Given the description of an element on the screen output the (x, y) to click on. 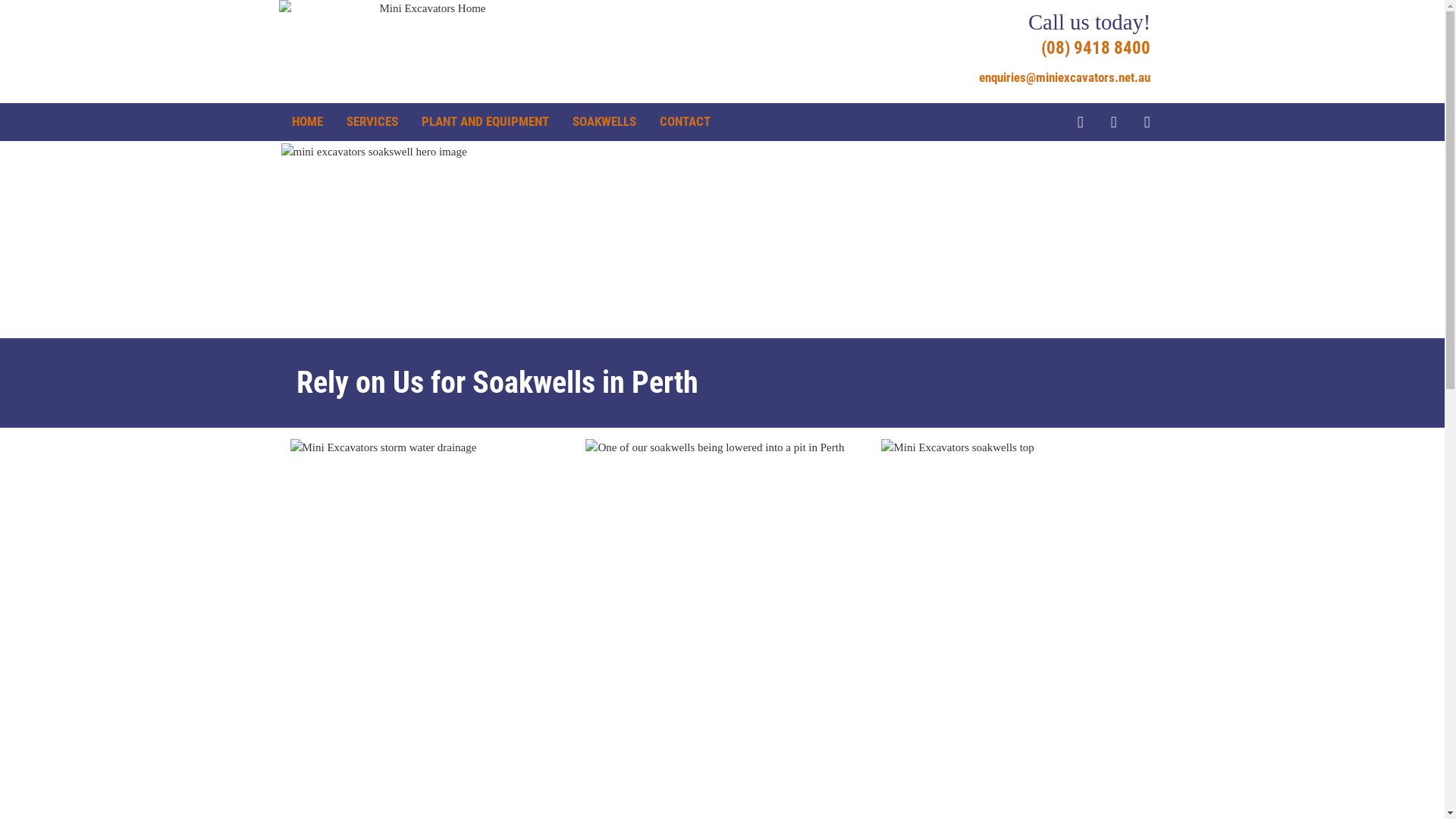
SOAKWELLS Element type: text (603, 121)
PLANT AND EQUIPMENT Element type: text (485, 121)
HOME Element type: text (306, 121)
Mini Excavators soakwell Element type: hover (721, 621)
Mini Excavators soakwells top Element type: hover (1017, 621)
(08) 9418 8400 Element type: text (1095, 47)
SERVICES Element type: text (371, 121)
Mini Excavators Home Element type: hover (426, 51)
mini excavators soakswell hero image Element type: hover (721, 239)
CONTACT Element type: text (684, 121)
enquiries@miniexcavators.net.au Element type: text (1064, 76)
Mini Excavators storm water drainage Element type: hover (425, 621)
